Given the description of an element on the screen output the (x, y) to click on. 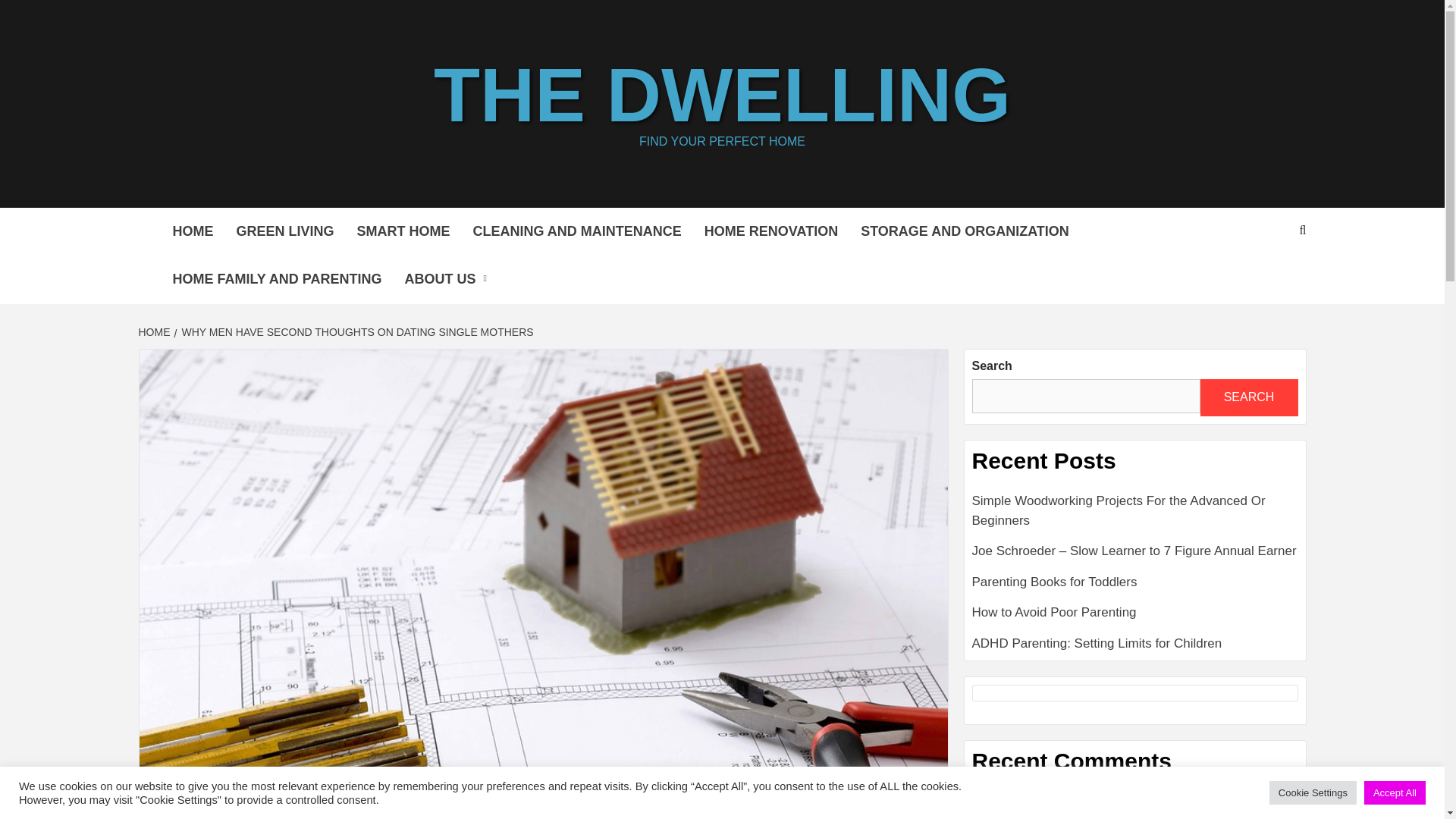
HOME (192, 231)
How to Avoid Poor Parenting (1135, 617)
Simple Woodworking Projects For the Advanced Or Beginners (1135, 516)
Parenting Books for Toddlers (1135, 587)
SMART HOME (403, 231)
HOME FAMILY AND PARENTING (276, 279)
ABOUT US (449, 279)
THE DWELLING (721, 94)
CLEANING AND MAINTENANCE (577, 231)
SEARCH (1248, 397)
